Given the description of an element on the screen output the (x, y) to click on. 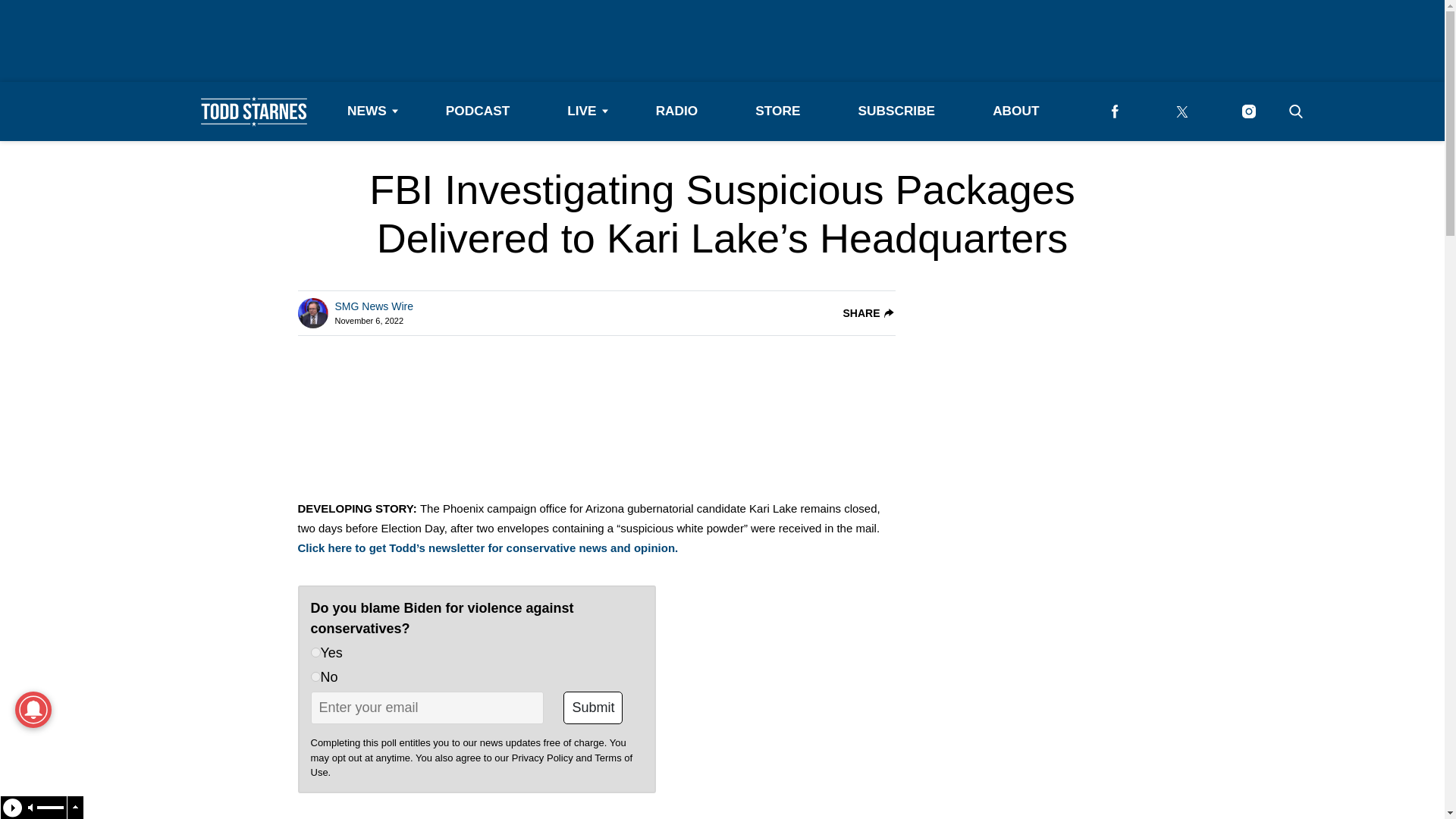
PODCAST (477, 110)
yes (315, 652)
LIVE (582, 110)
Posts by SMG News Wire (373, 306)
RADIO (676, 110)
ABOUT (1015, 110)
SMG News Wire (373, 306)
Submit (593, 707)
NEWS (367, 110)
Submit (593, 707)
